Given the description of an element on the screen output the (x, y) to click on. 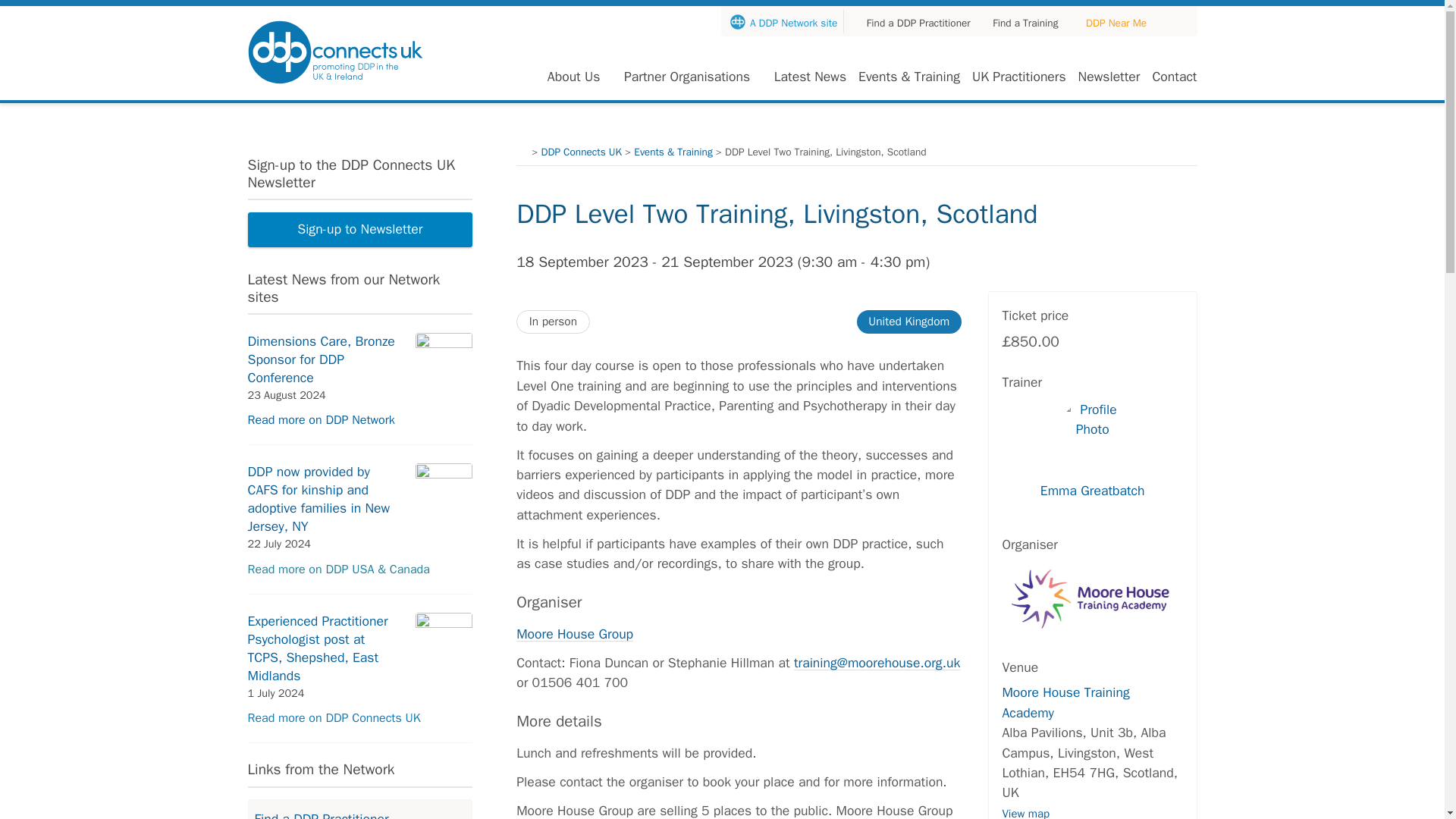
Contact (1173, 76)
Moore House Training Academy (1065, 701)
Latest News (809, 76)
Newsletter (1109, 76)
Partner Organisations (686, 76)
Newsletter (1109, 76)
A DDP Network site (783, 22)
DDP Near Me (1115, 22)
UK Practitioners (1018, 76)
